Given the description of an element on the screen output the (x, y) to click on. 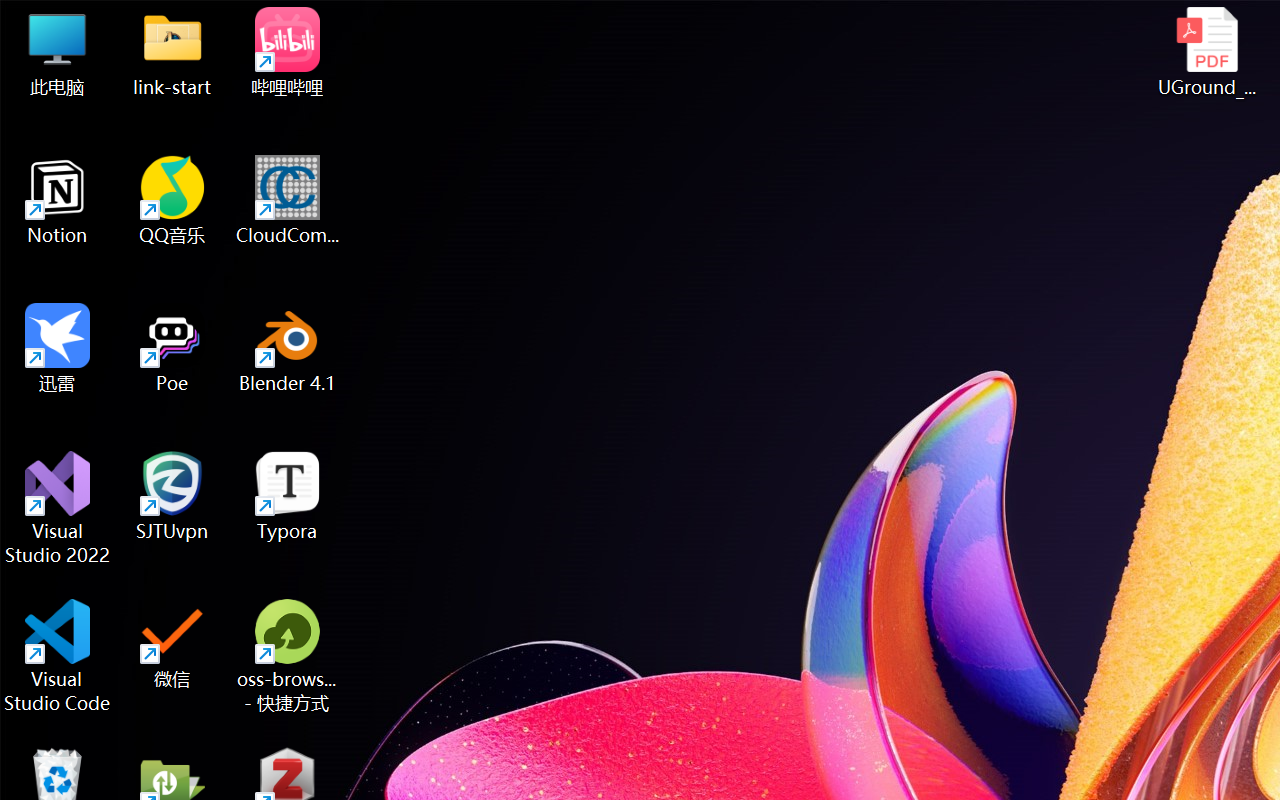
Typora (287, 496)
Blender 4.1 (287, 348)
Visual Studio Code (57, 656)
Visual Studio 2022 (57, 508)
CloudCompare (287, 200)
SJTUvpn (172, 496)
UGround_paper.pdf (1206, 52)
